Given the description of an element on the screen output the (x, y) to click on. 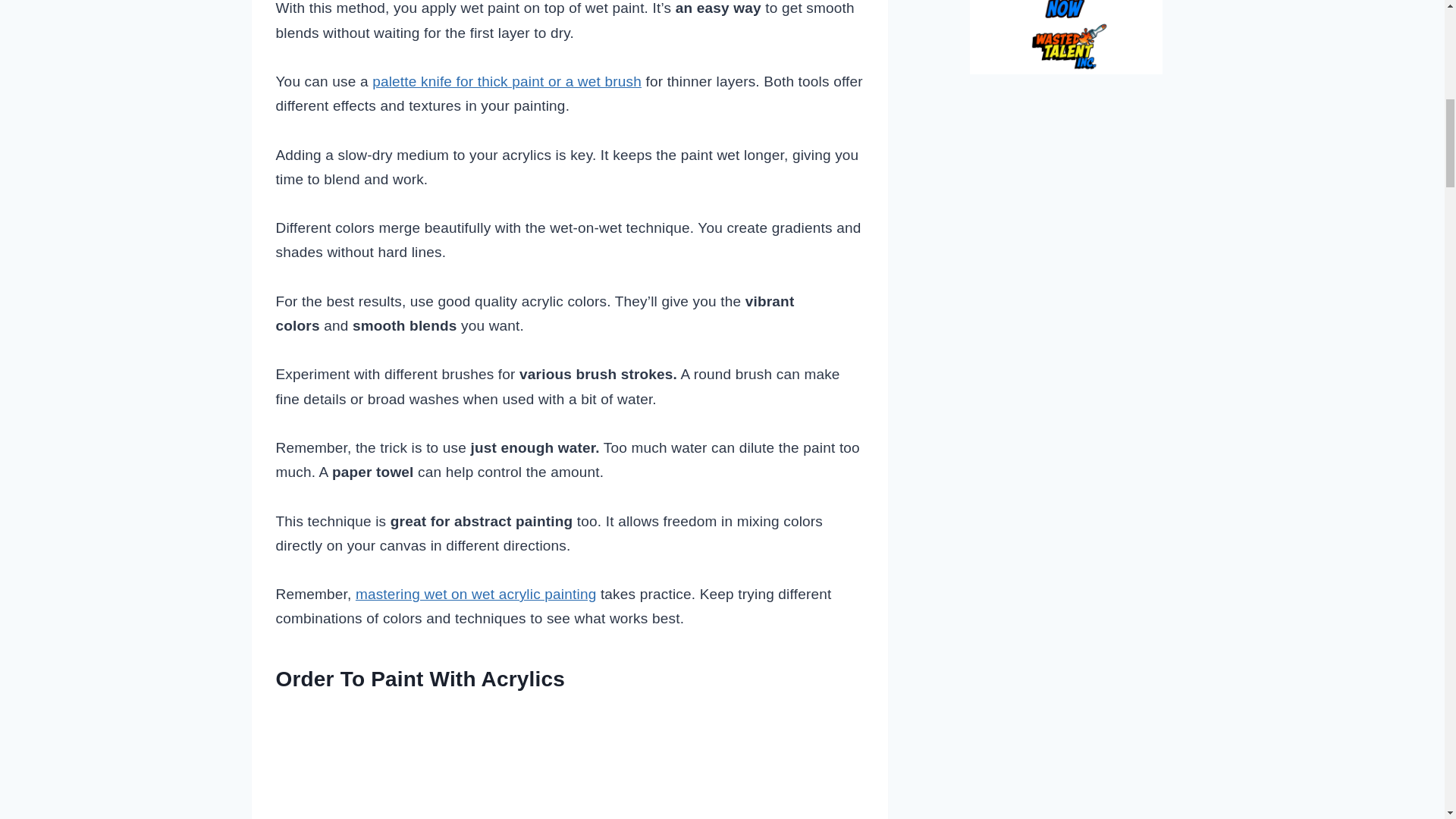
palette knife for thick paint or a wet brush (507, 81)
mastering wet on wet acrylic painting (475, 593)
